Given the description of an element on the screen output the (x, y) to click on. 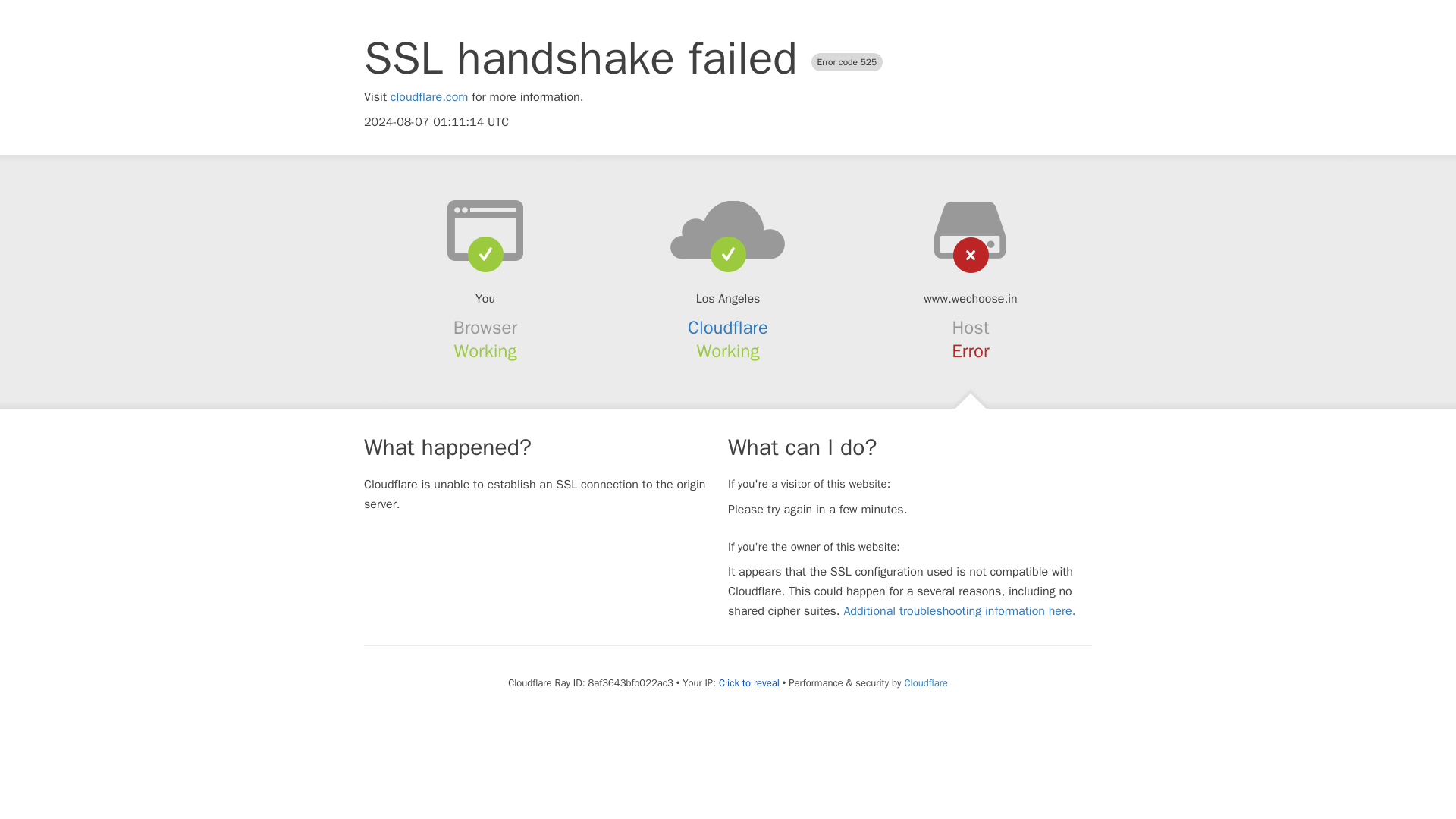
Cloudflare (925, 682)
Additional troubleshooting information here. (959, 611)
Click to reveal (748, 683)
cloudflare.com (429, 96)
Cloudflare (727, 327)
